Given the description of an element on the screen output the (x, y) to click on. 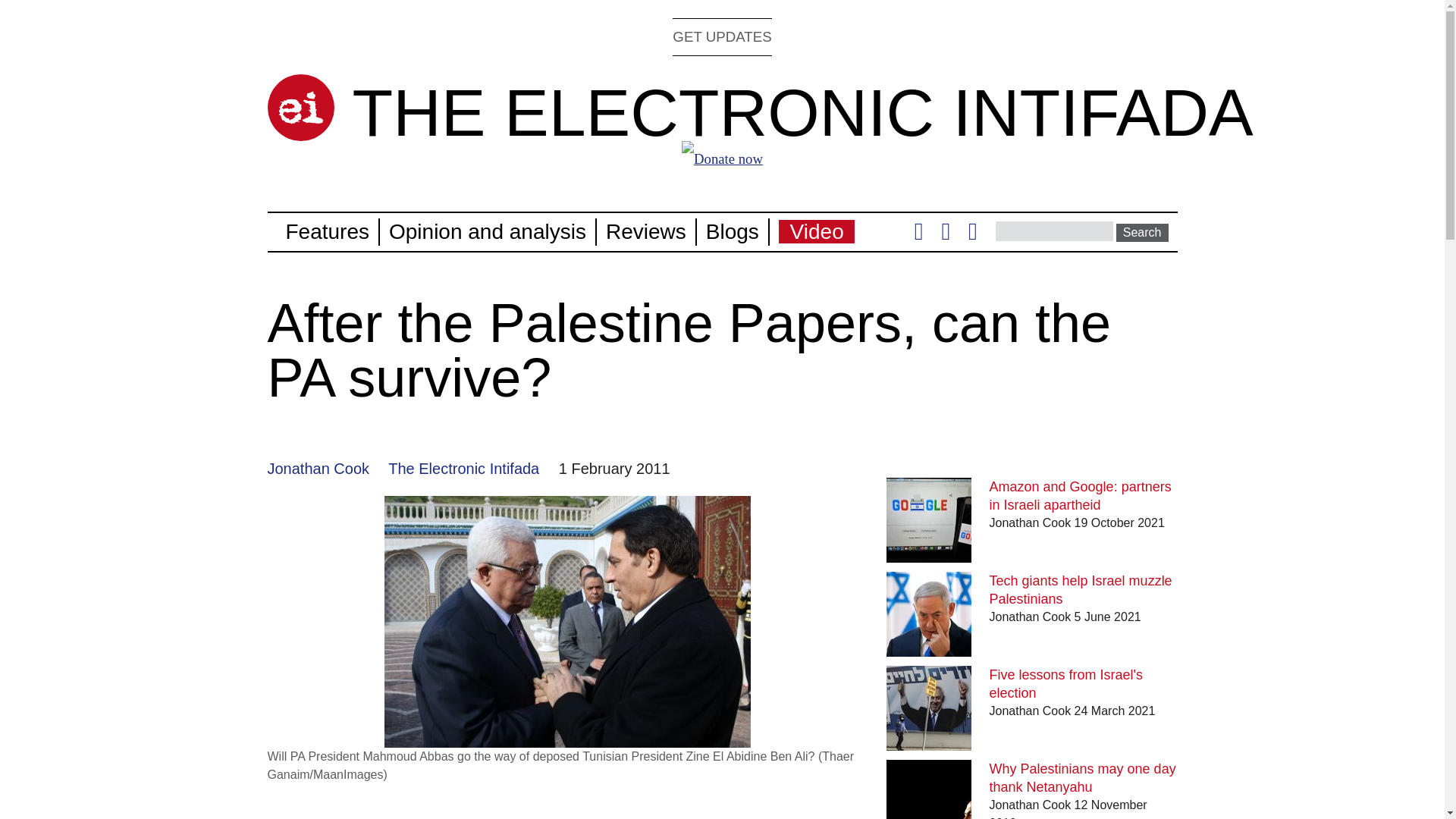
Jonathan Cook (317, 468)
Reviews (645, 231)
Features (327, 231)
Home (299, 107)
Search (1142, 232)
Tech giants help Israel muzzle Palestinians (1081, 589)
MaanImages (348, 774)
Blogs (732, 231)
THE ELECTRONIC INTIFADA (802, 112)
Search (1142, 232)
